Given the description of an element on the screen output the (x, y) to click on. 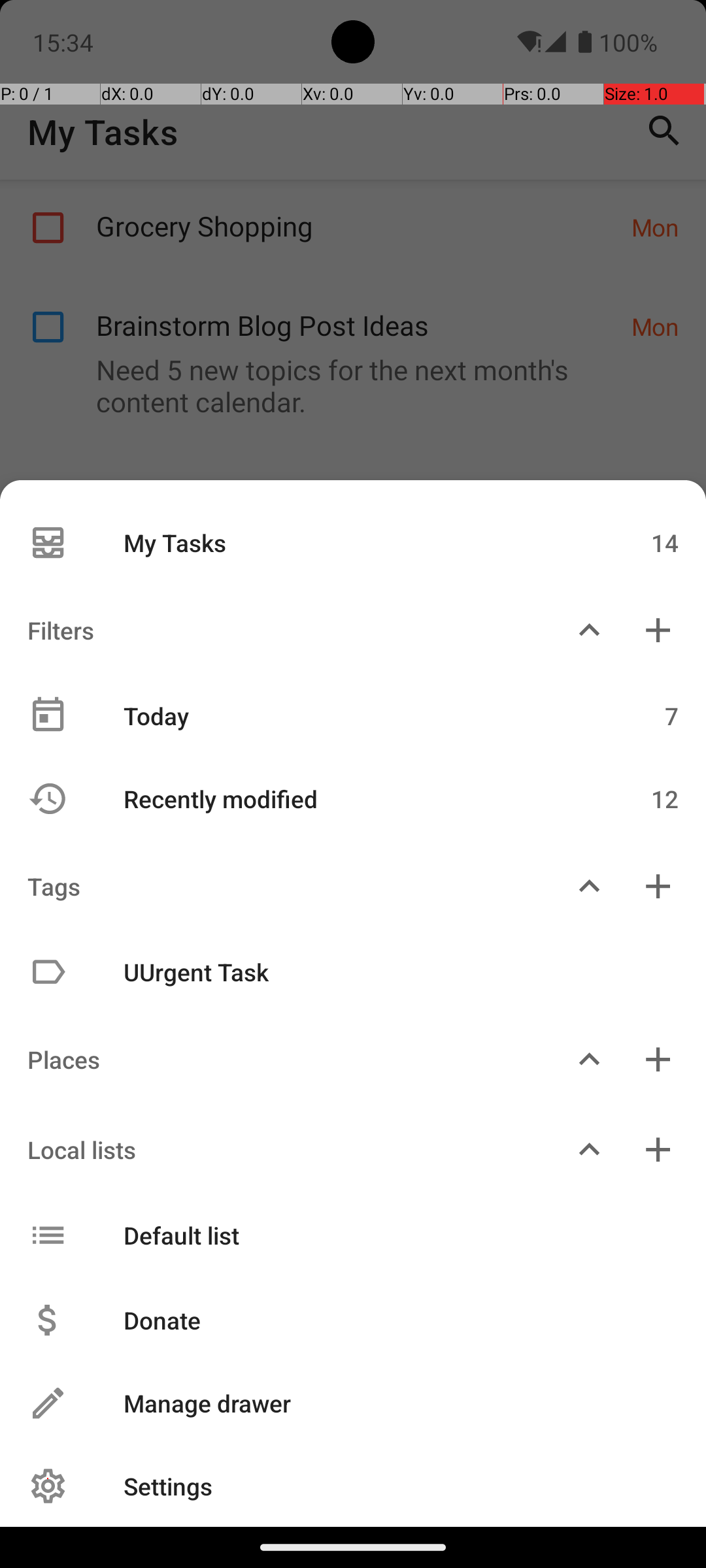
Filters Element type: android.widget.TextView (277, 630)
Recently modified Element type: android.widget.CheckedTextView (344, 798)
UUrgent Task Element type: android.widget.CheckedTextView (344, 971)
Places Element type: android.widget.TextView (277, 1059)
Manage drawer Element type: android.widget.TextView (387, 1402)
